Given the description of an element on the screen output the (x, y) to click on. 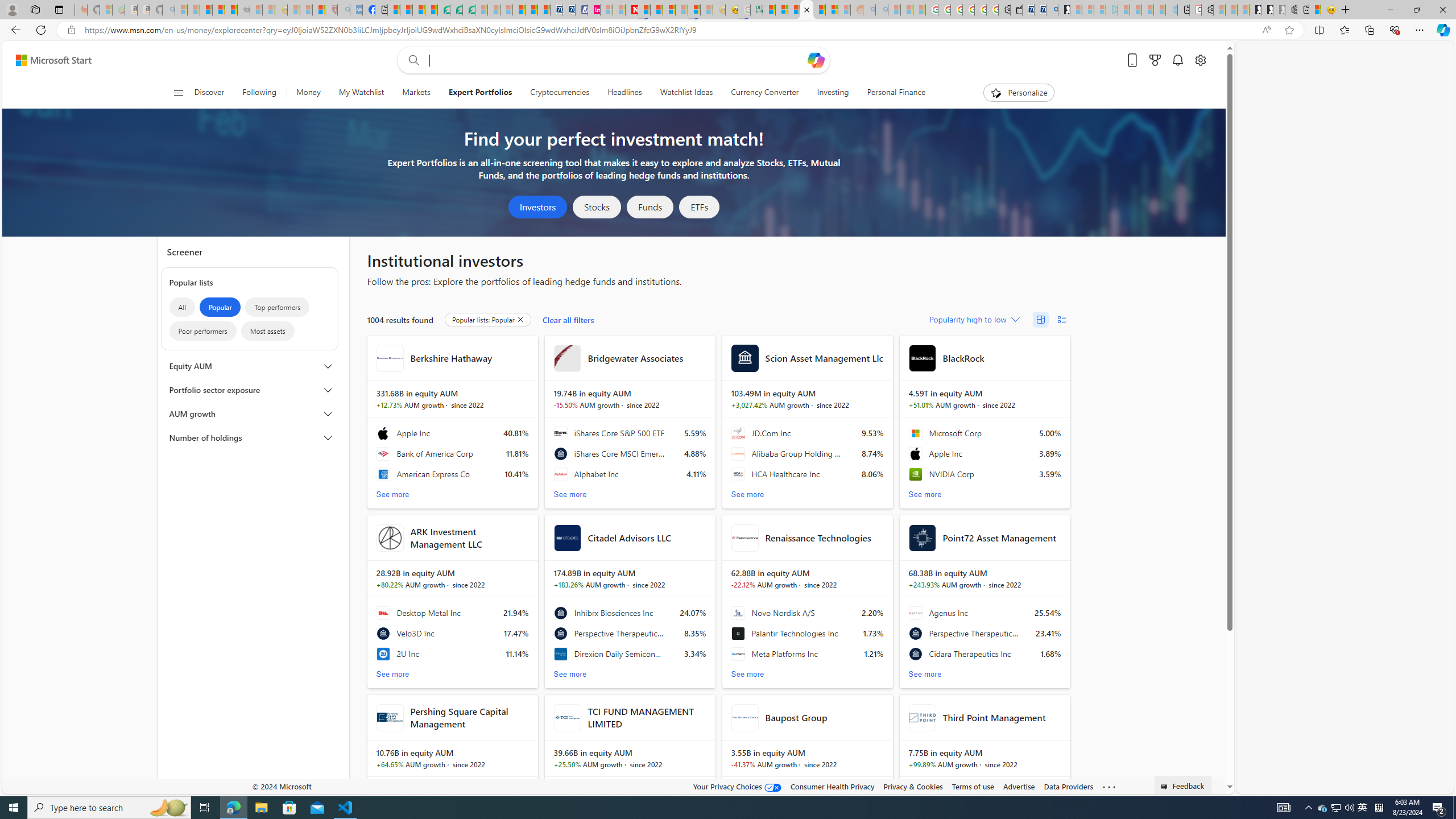
Top performers (277, 306)
The Weather Channel - MSN (205, 9)
Watchlist Ideas (686, 92)
Personal Finance (891, 92)
Headlines (624, 92)
